Given the description of an element on the screen output the (x, y) to click on. 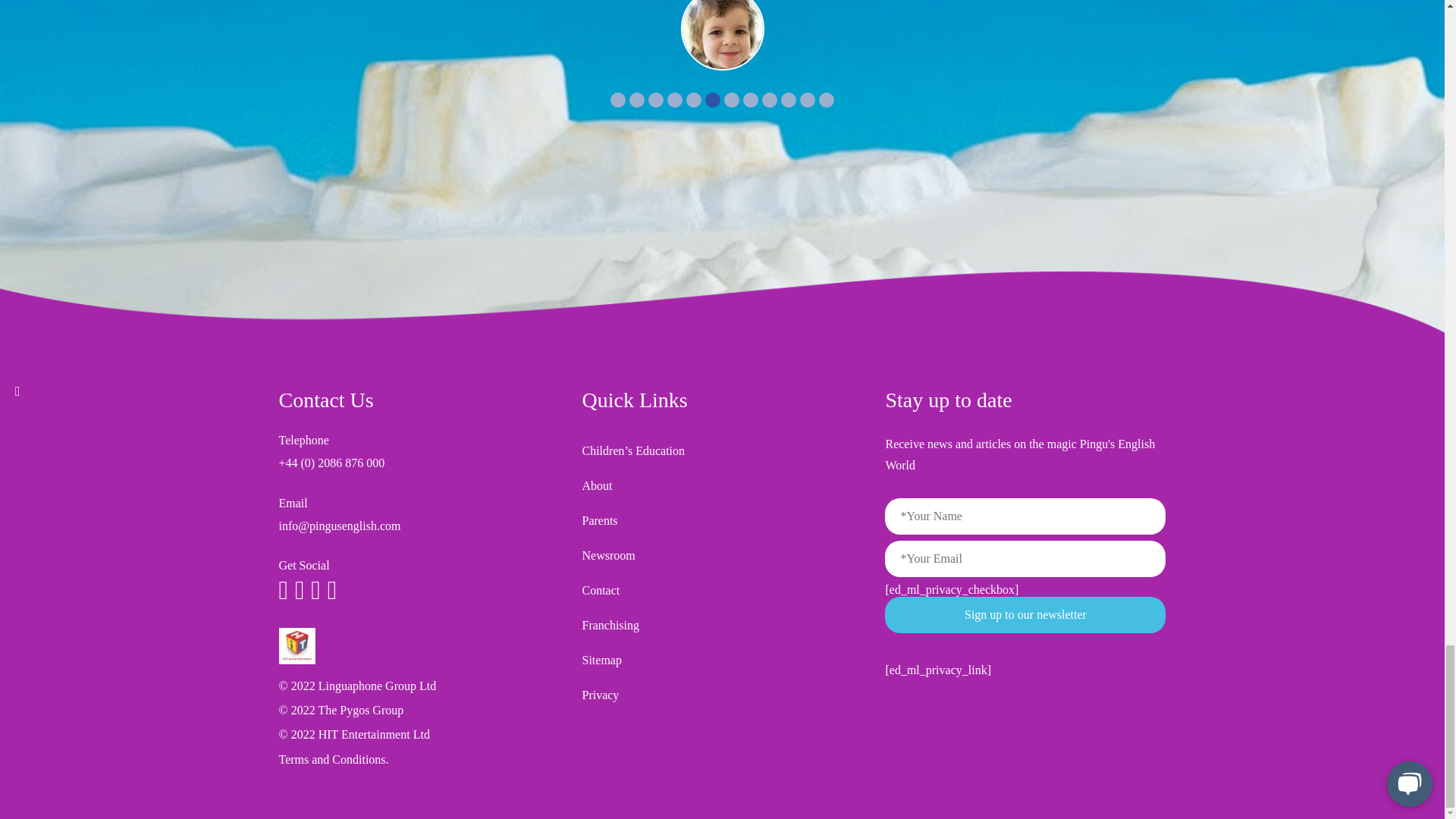
Sign up to our newsletter (1025, 615)
